Given the description of an element on the screen output the (x, y) to click on. 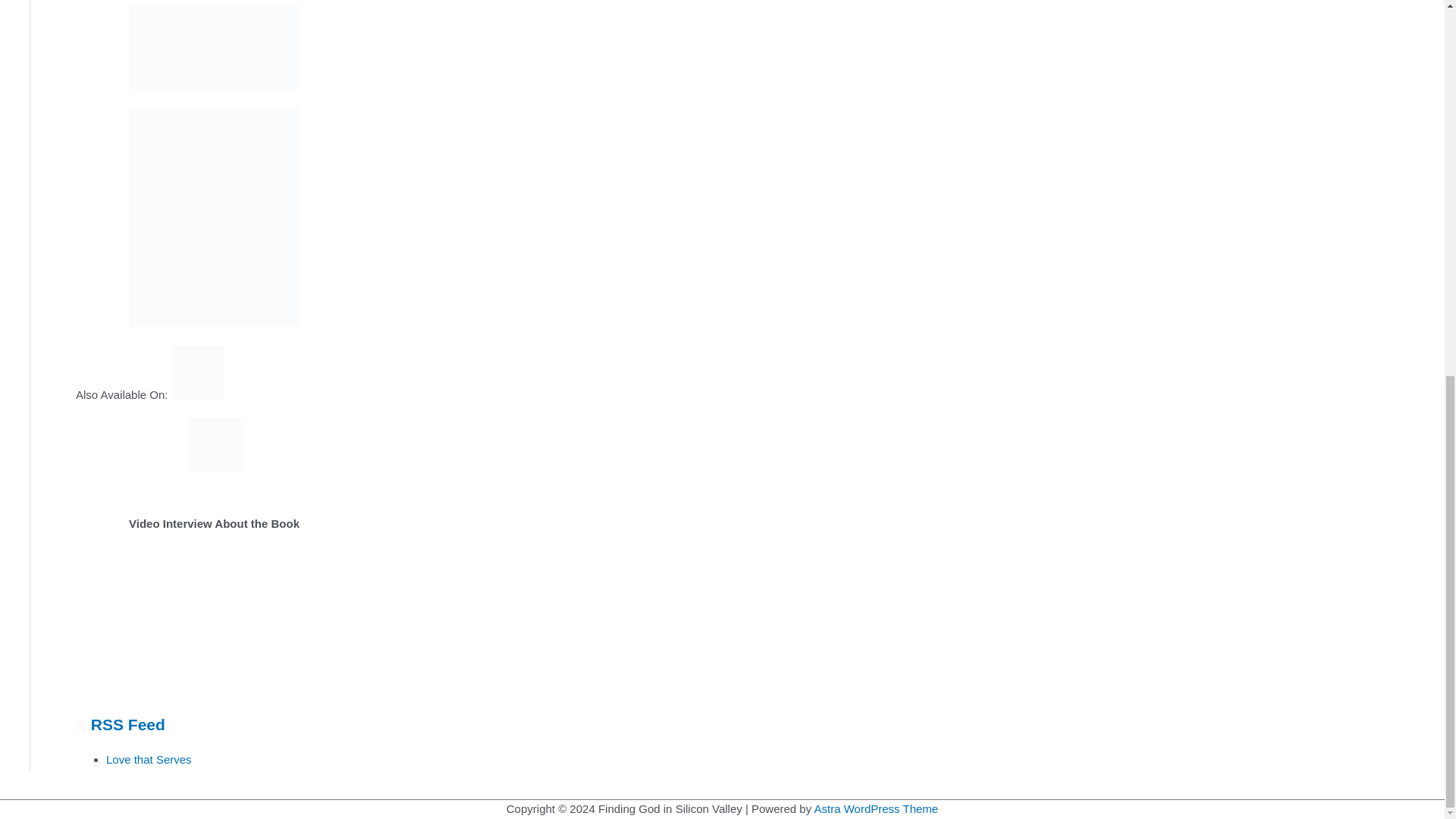
Astra WordPress Theme (876, 808)
RSS Feed (127, 724)
Love that Serves (149, 758)
